Given the description of an element on the screen output the (x, y) to click on. 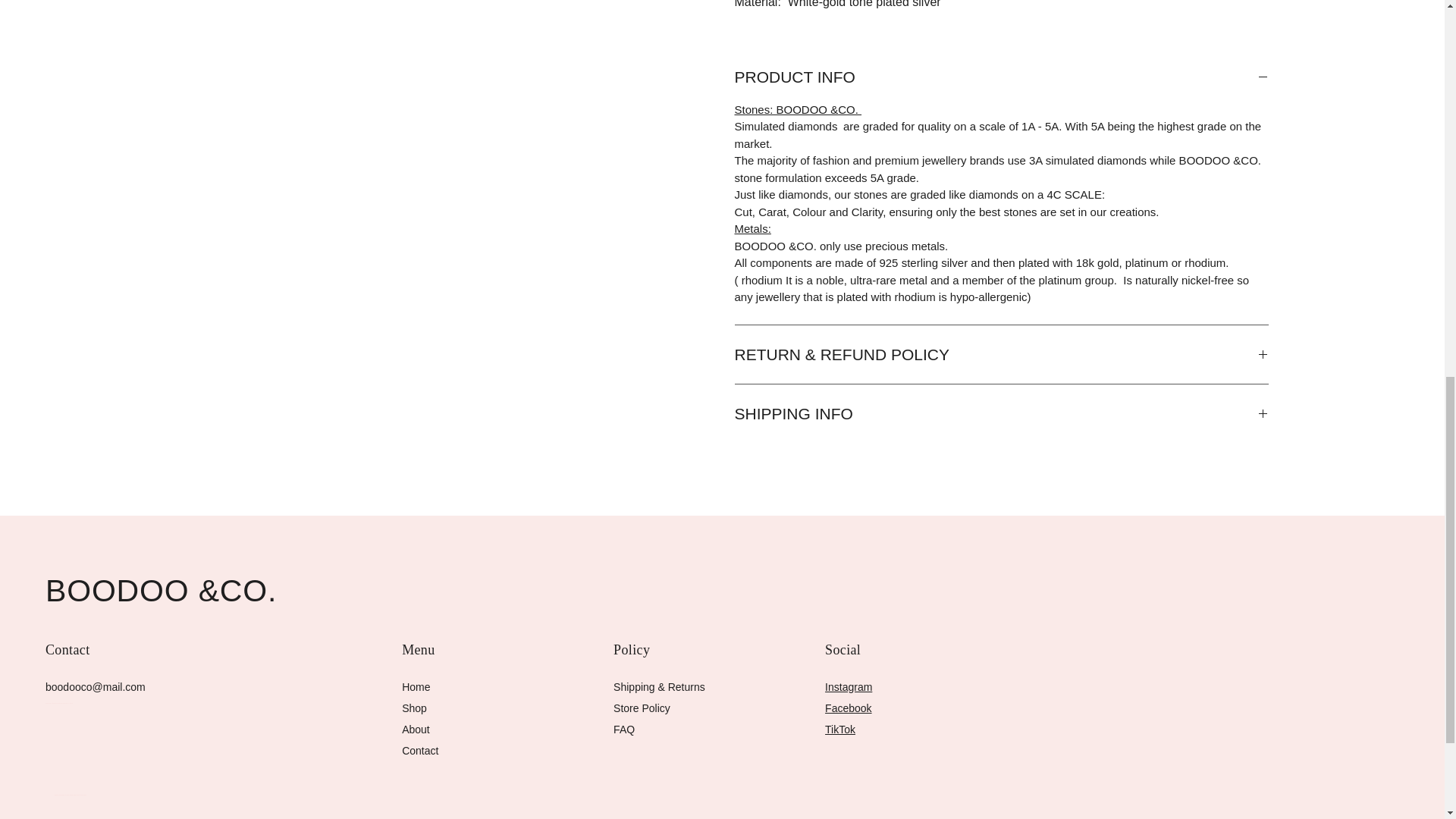
Shop (413, 707)
PRODUCT INFO (1000, 76)
Instagram (848, 686)
About (415, 729)
Store Policy (640, 707)
TikTok (840, 729)
FAQ (623, 729)
Facebook (847, 707)
SHIPPING INFO (1000, 413)
Home (415, 686)
